Given the description of an element on the screen output the (x, y) to click on. 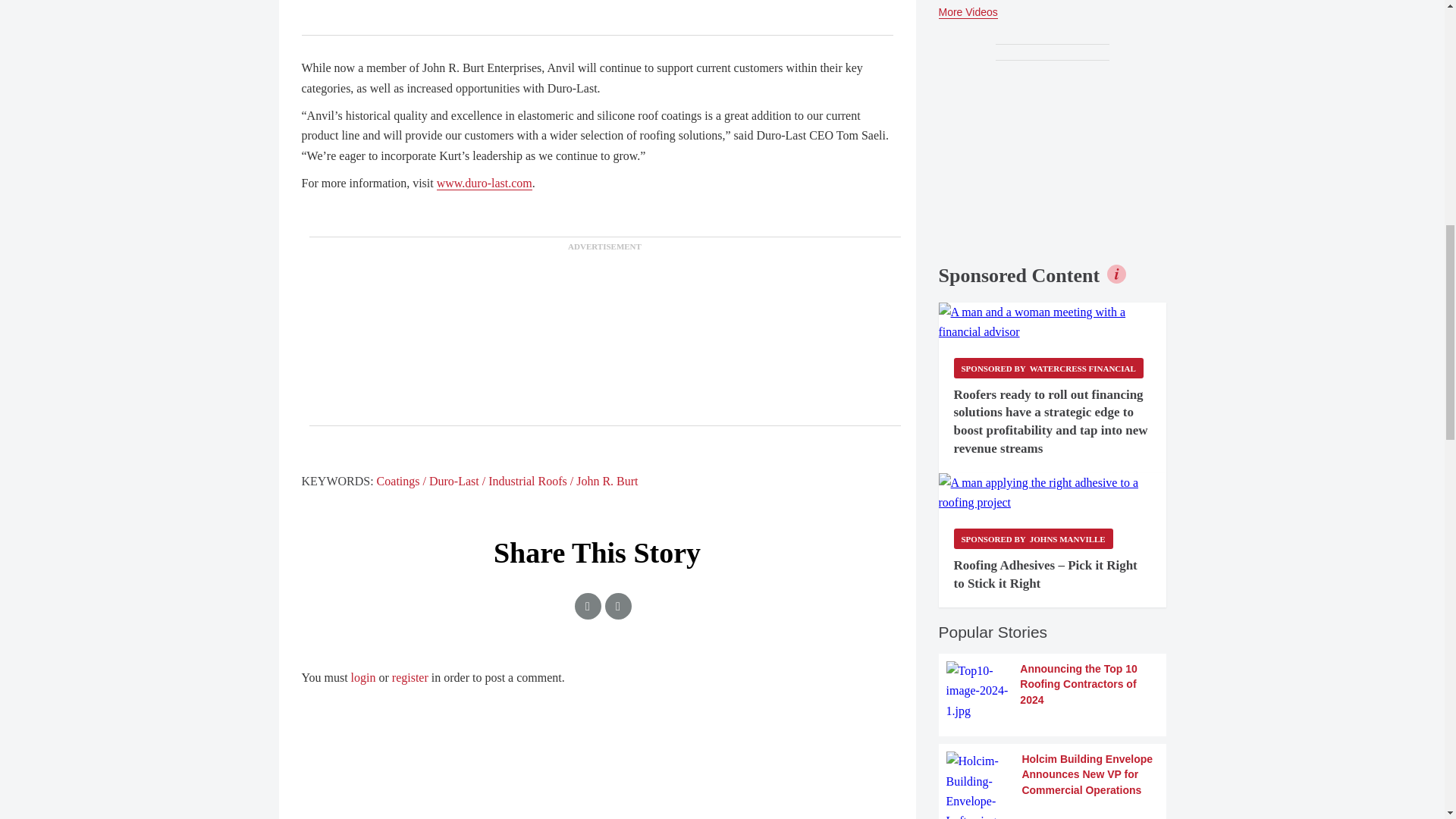
Sponsored by Johns Manville (1033, 538)
Sponsored by Watercress Financial (1047, 367)
Announcing the Top 10 Roofing Contractors of 2024 (1052, 690)
